Given the description of an element on the screen output the (x, y) to click on. 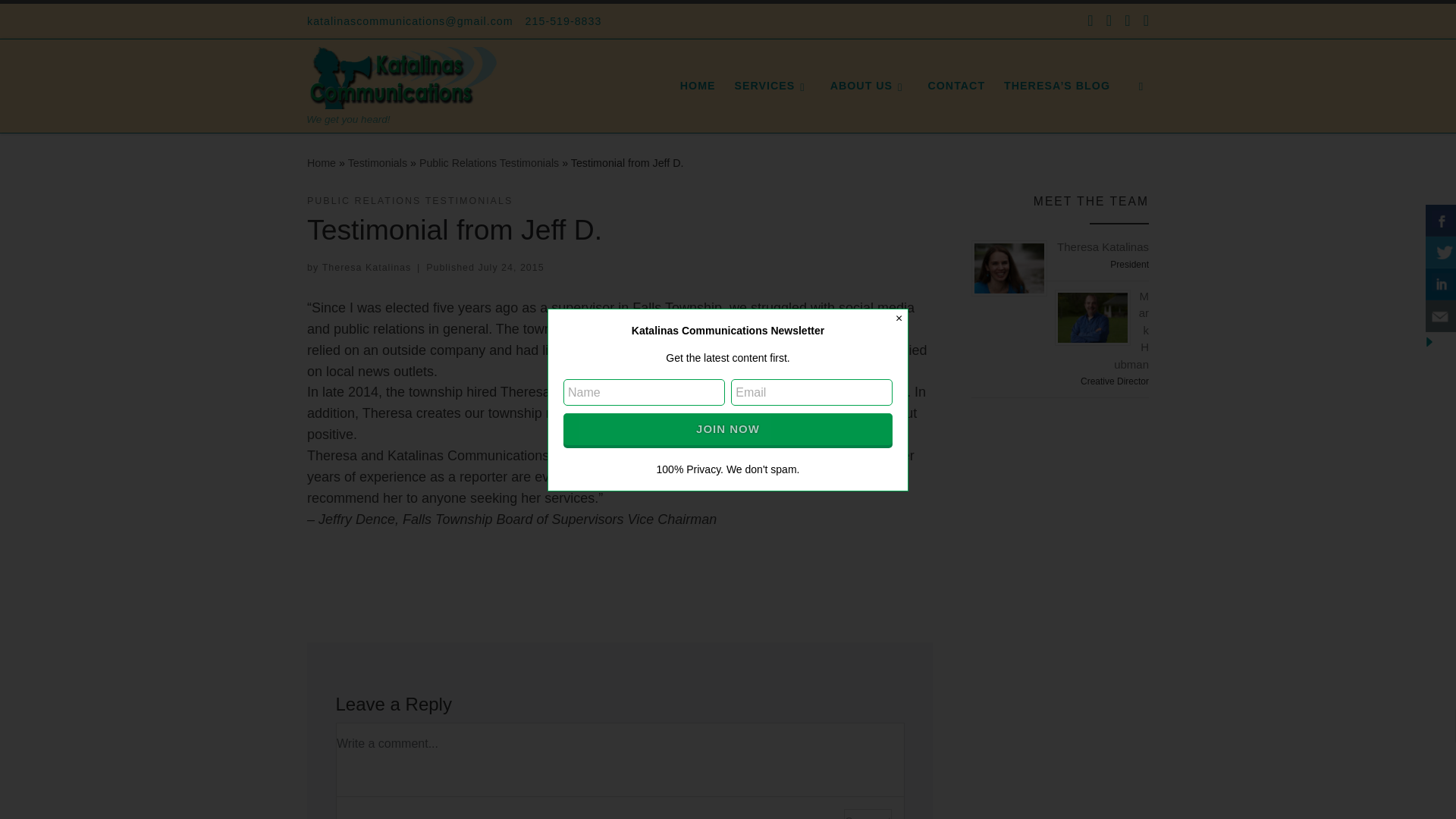
Testimonials (377, 162)
Skip to content (60, 20)
10:13 pm (510, 267)
Join Now (727, 429)
Comment Form (619, 770)
CONTACT (956, 85)
Katalinas Communications (321, 162)
HOME (697, 85)
SERVICES (772, 85)
215-519-8833 (563, 21)
View all posts in Public Relations Testimonials (409, 201)
ABOUT US (868, 85)
View all posts by Theresa Katalinas (366, 267)
Public Relations Testimonials (489, 162)
